Given the description of an element on the screen output the (x, y) to click on. 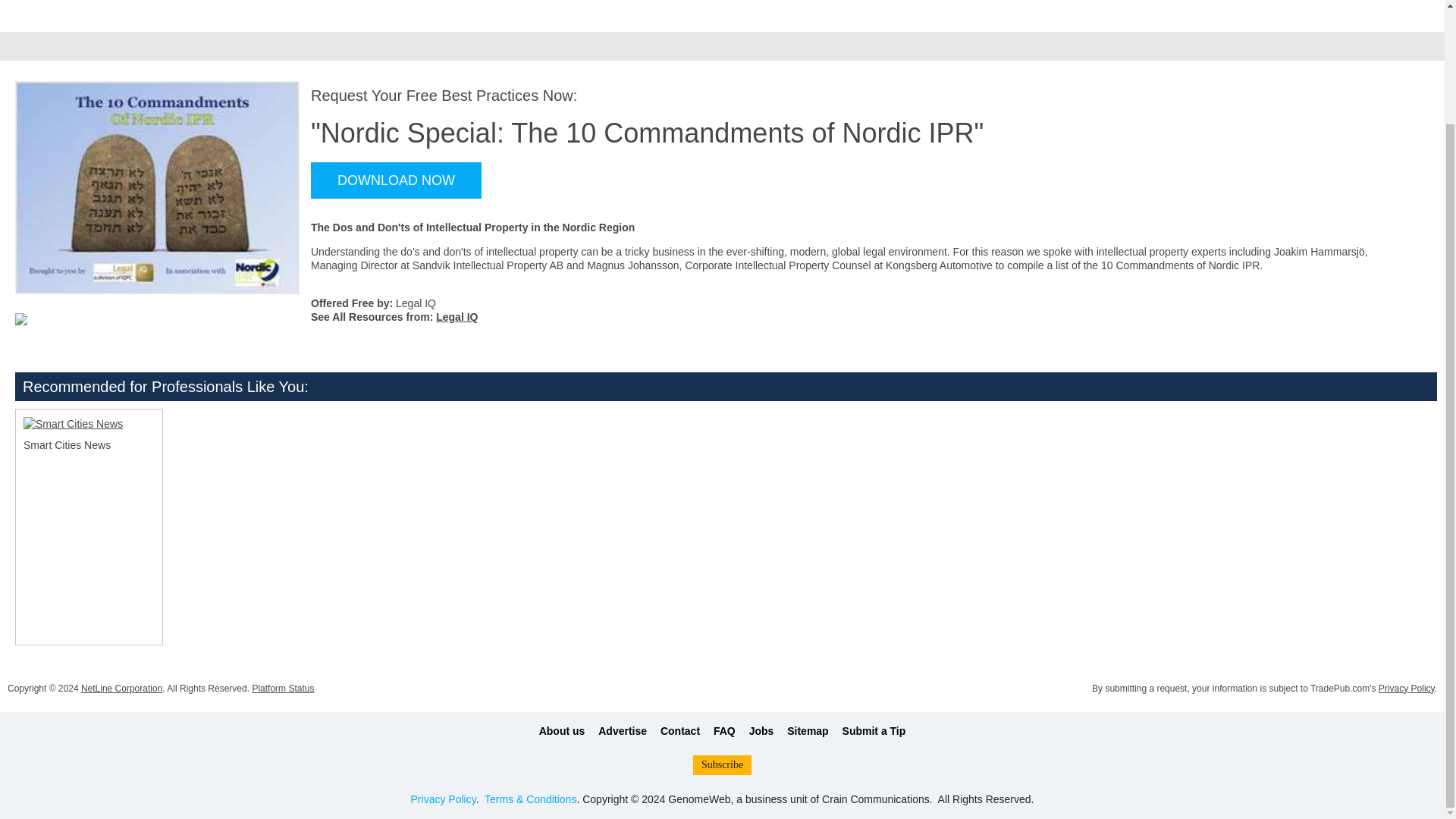
A text sitemap of the website. (807, 729)
Privacy Policy (443, 799)
Get answers to frequently-asked questions. (724, 729)
Terms and conditions (530, 799)
